Given the description of an element on the screen output the (x, y) to click on. 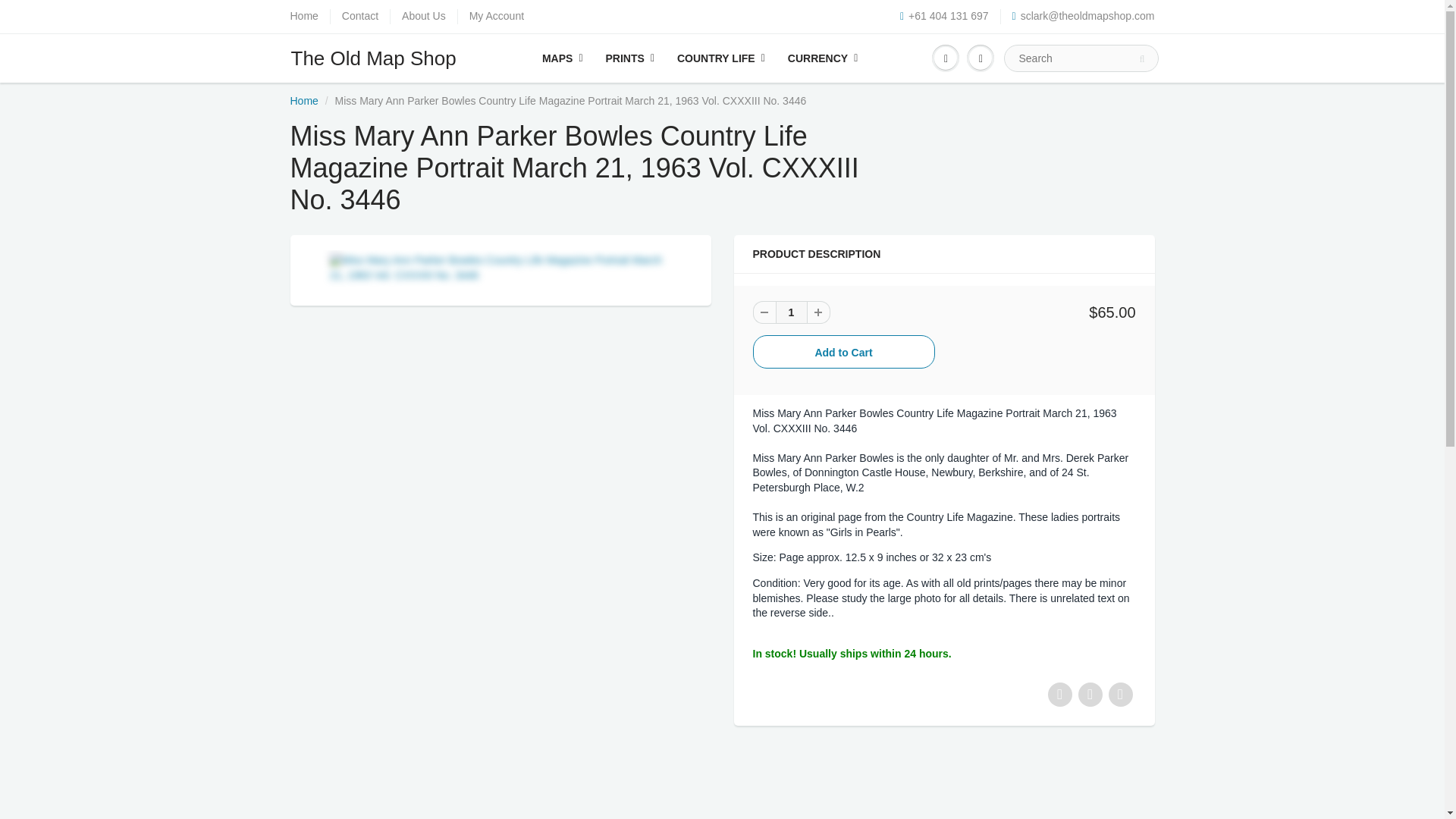
Home (303, 101)
The Old Map Shop (381, 58)
Contact (360, 16)
Home (303, 16)
1 (790, 312)
MAPS (562, 58)
My Account (496, 16)
About Us (423, 16)
Add to Cart (843, 351)
